Given the description of an element on the screen output the (x, y) to click on. 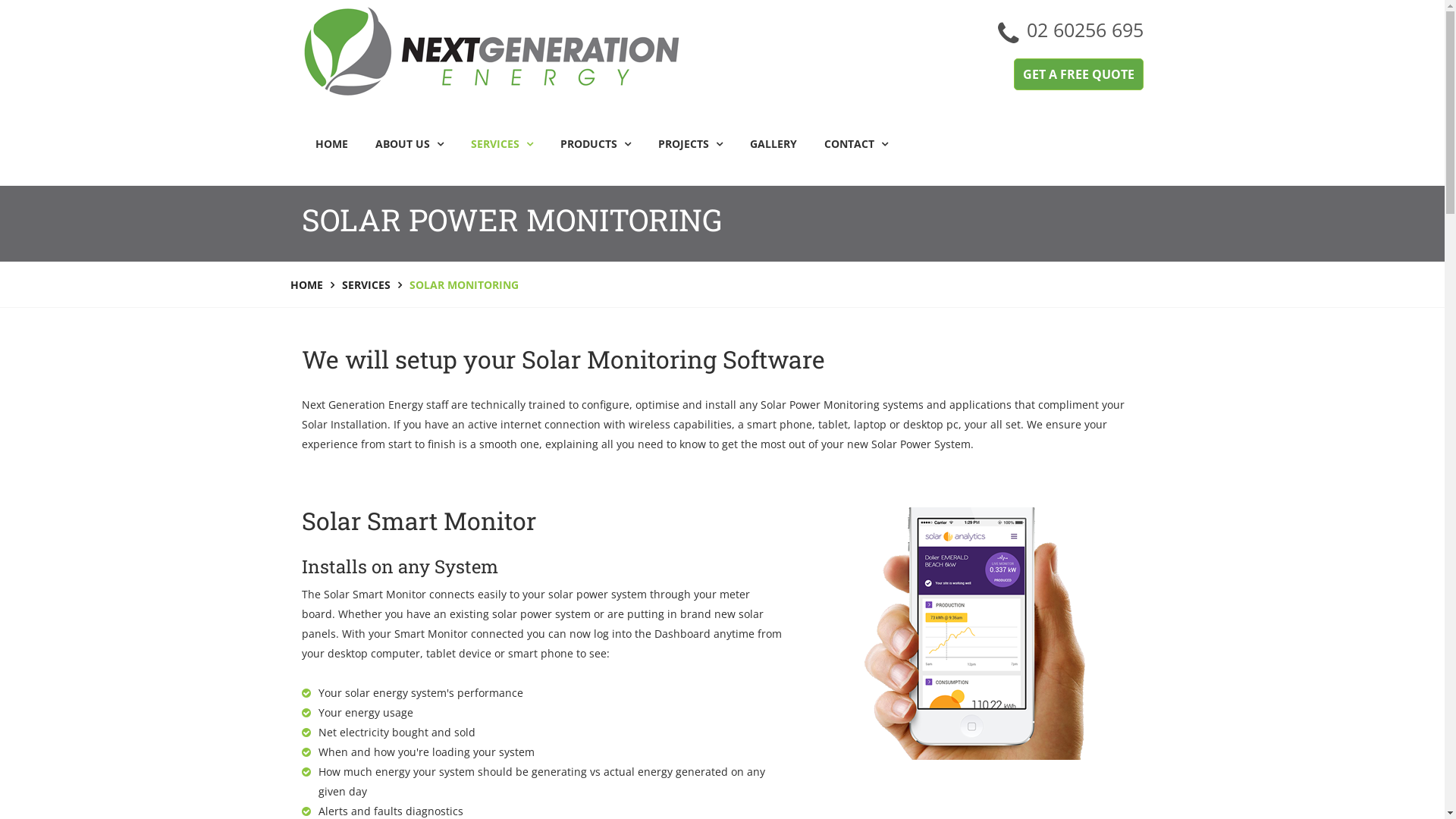
02 60256 695 Element type: text (1084, 33)
SERVICES Element type: text (365, 284)
CONTACT Element type: text (848, 151)
GET A FREE QUOTE Element type: text (1077, 74)
SERVICES Element type: text (501, 143)
ABOUT US Element type: text (408, 143)
HOME Element type: text (331, 143)
HOME Element type: text (305, 284)
PRODUCTS Element type: text (594, 143)
PROJECTS Element type: text (690, 143)
GALLERY Element type: text (772, 143)
